Given the description of an element on the screen output the (x, y) to click on. 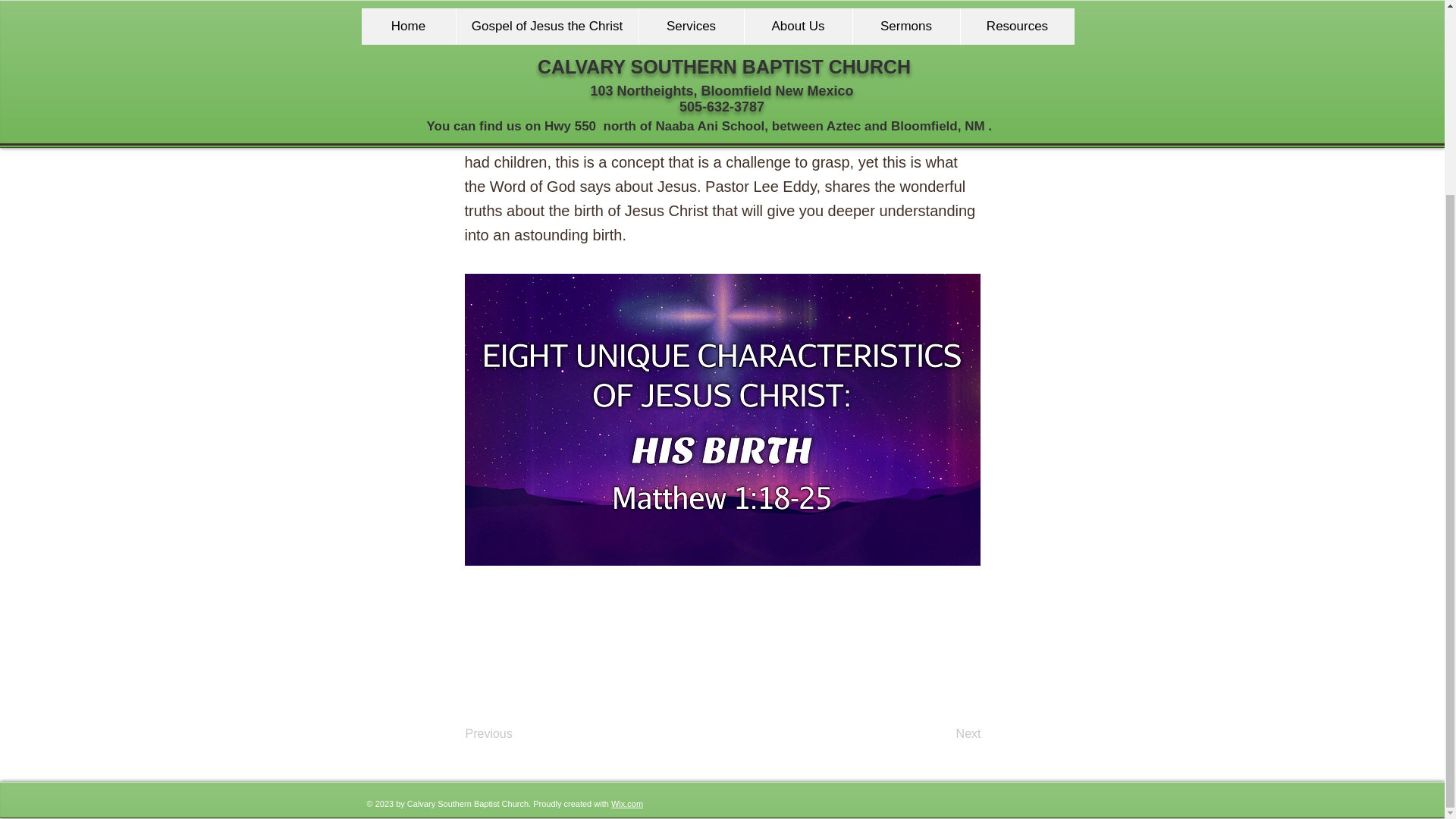
Previous (515, 734)
Next (943, 734)
Wix.com (627, 802)
